Given the description of an element on the screen output the (x, y) to click on. 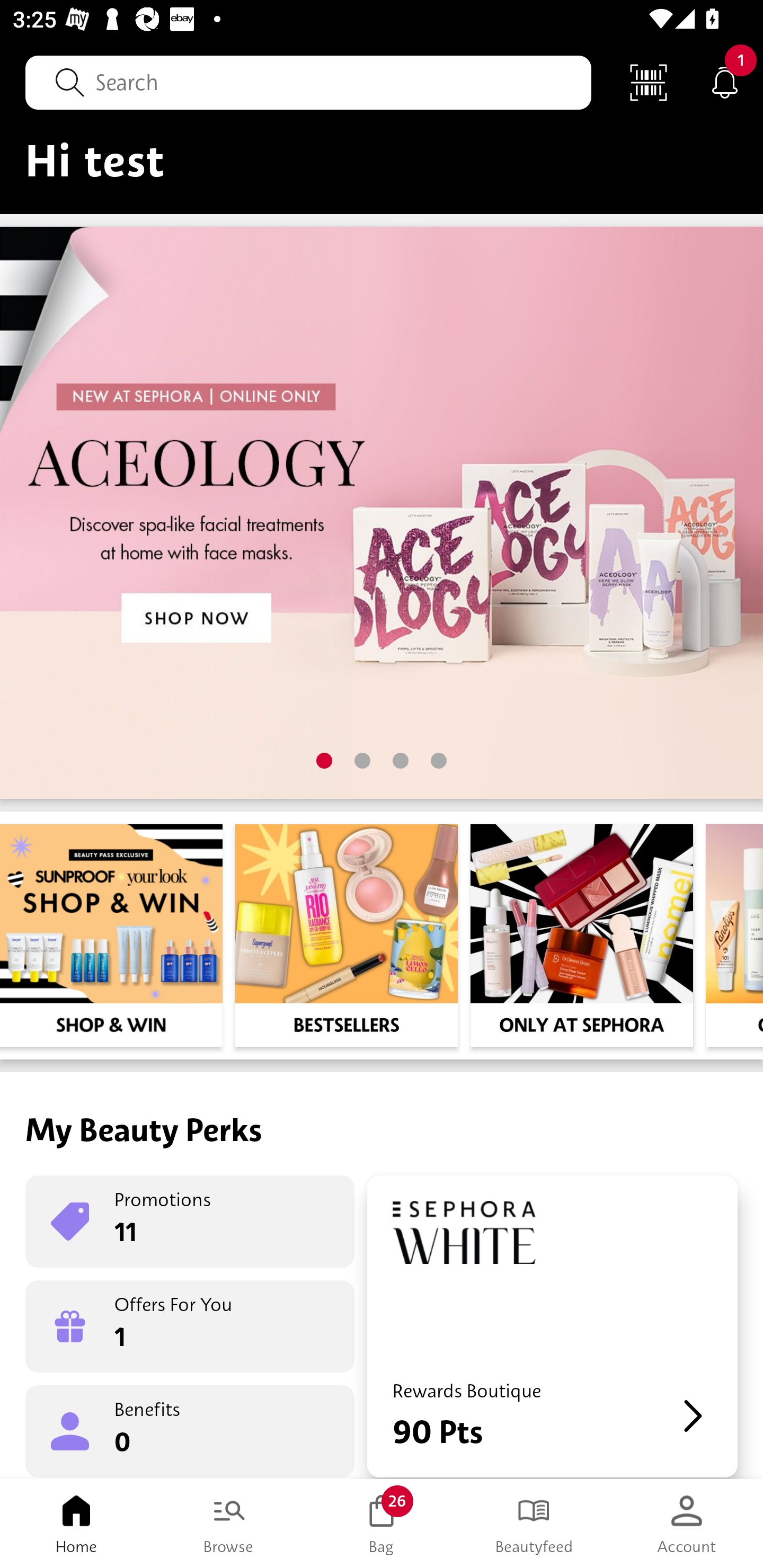
Scan Code (648, 81)
Notifications (724, 81)
Search (308, 81)
Promotions 11 (189, 1221)
Rewards Boutique 90 Pts (552, 1326)
Offers For You 1 (189, 1326)
Benefits 0 (189, 1430)
Browse (228, 1523)
Bag 26 Bag (381, 1523)
Beautyfeed (533, 1523)
Account (686, 1523)
